Given the description of an element on the screen output the (x, y) to click on. 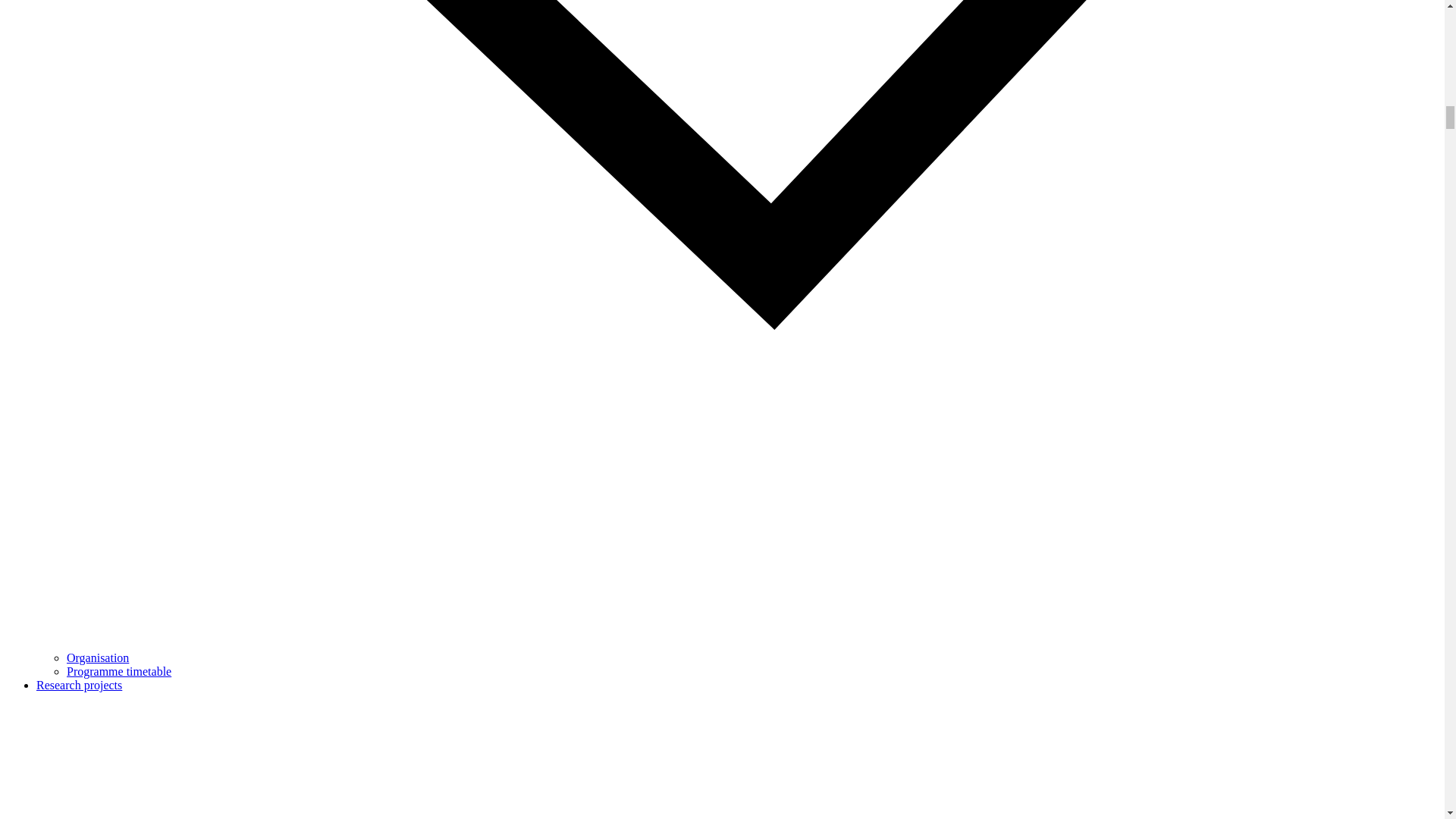
Organisation (97, 657)
Research projects (79, 684)
Programme timetable (118, 671)
